Given the description of an element on the screen output the (x, y) to click on. 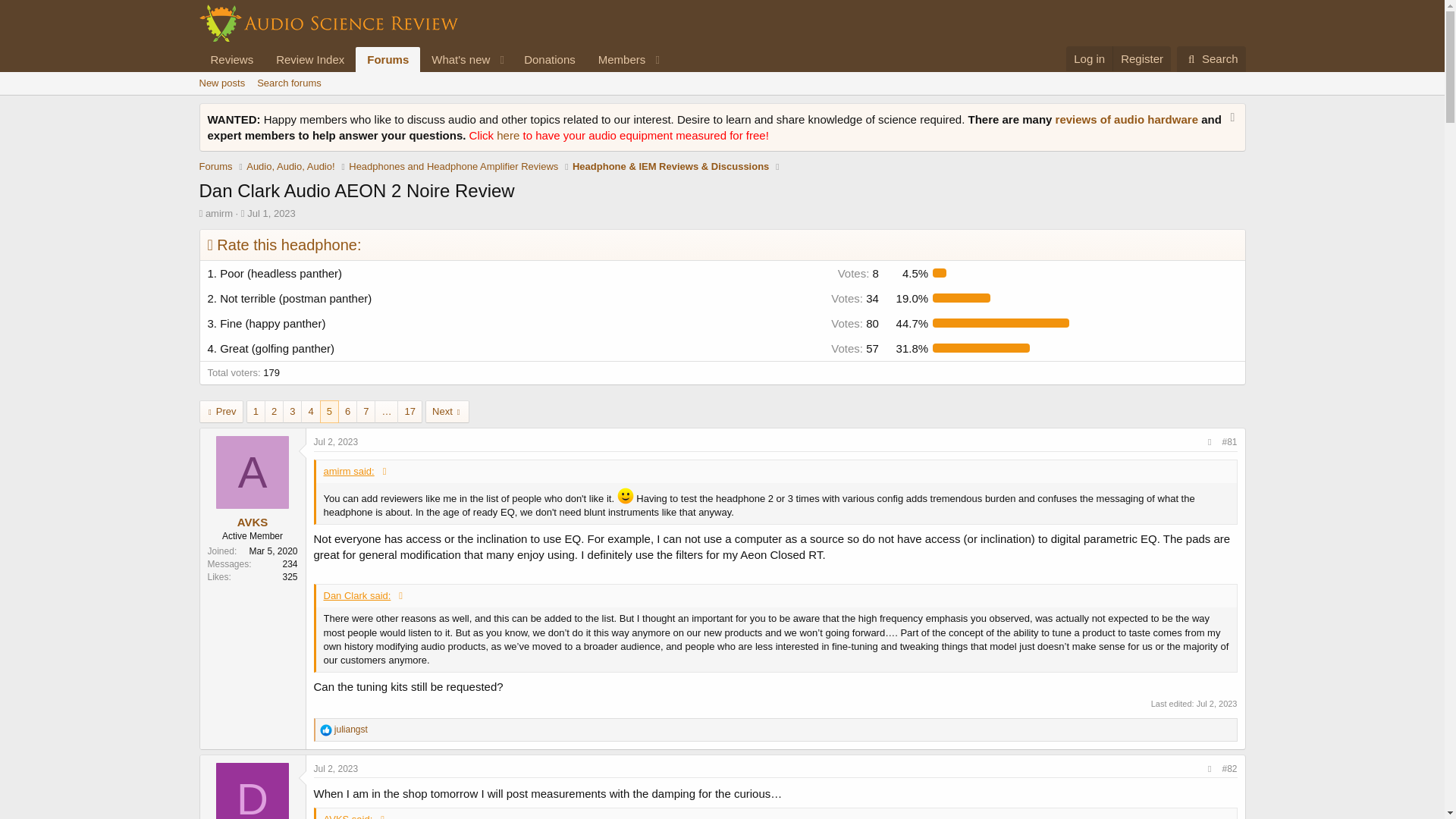
Jul 2, 2023 at 2:23 PM (336, 441)
Forums (387, 59)
Search (1211, 58)
Jul 1, 2023 (271, 213)
Start date (721, 100)
Headphones and Headphone Amplifier Reviews (218, 213)
Search forums (432, 76)
Register (453, 166)
Like (288, 83)
Review Index (1141, 58)
Prev (325, 729)
Donations (309, 59)
